Given the description of an element on the screen output the (x, y) to click on. 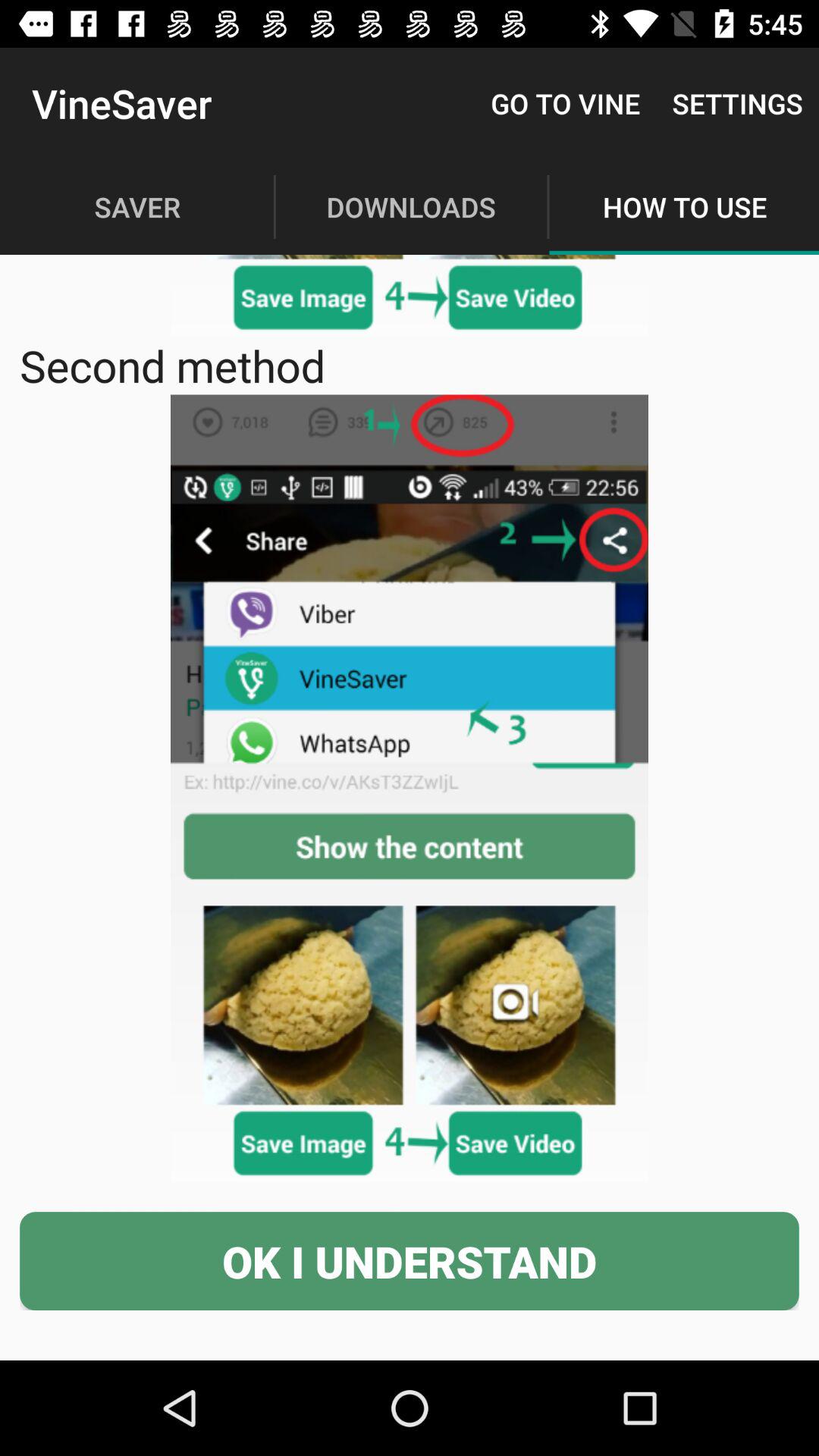
turn off icon to the right of the vinesaver icon (565, 103)
